Given the description of an element on the screen output the (x, y) to click on. 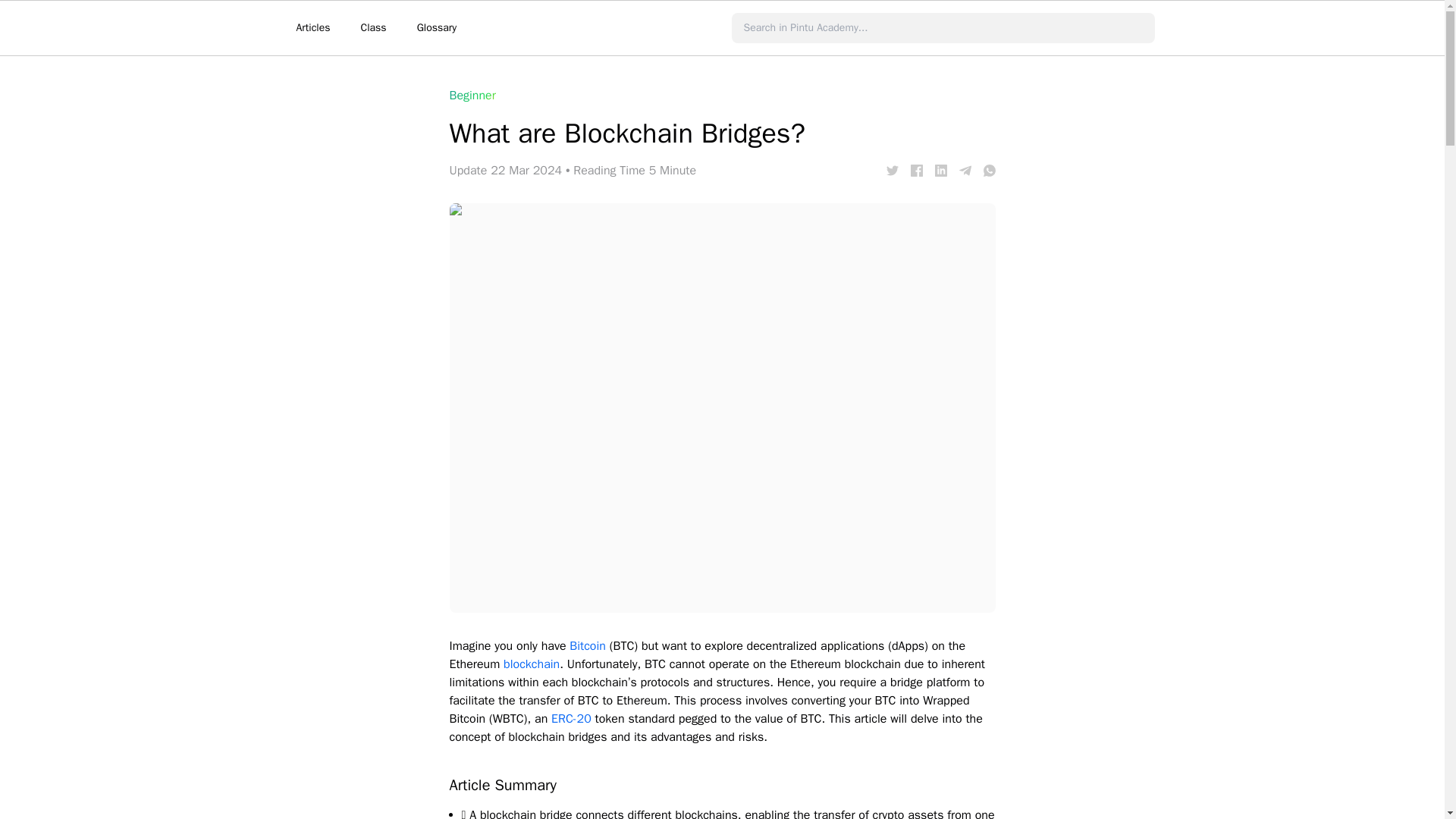
blockchain (531, 663)
Bitcoin (587, 645)
Glossary (436, 27)
ERC-20 (571, 718)
Beginner (471, 95)
What are Blockchain Bridges? (915, 170)
